Given the description of an element on the screen output the (x, y) to click on. 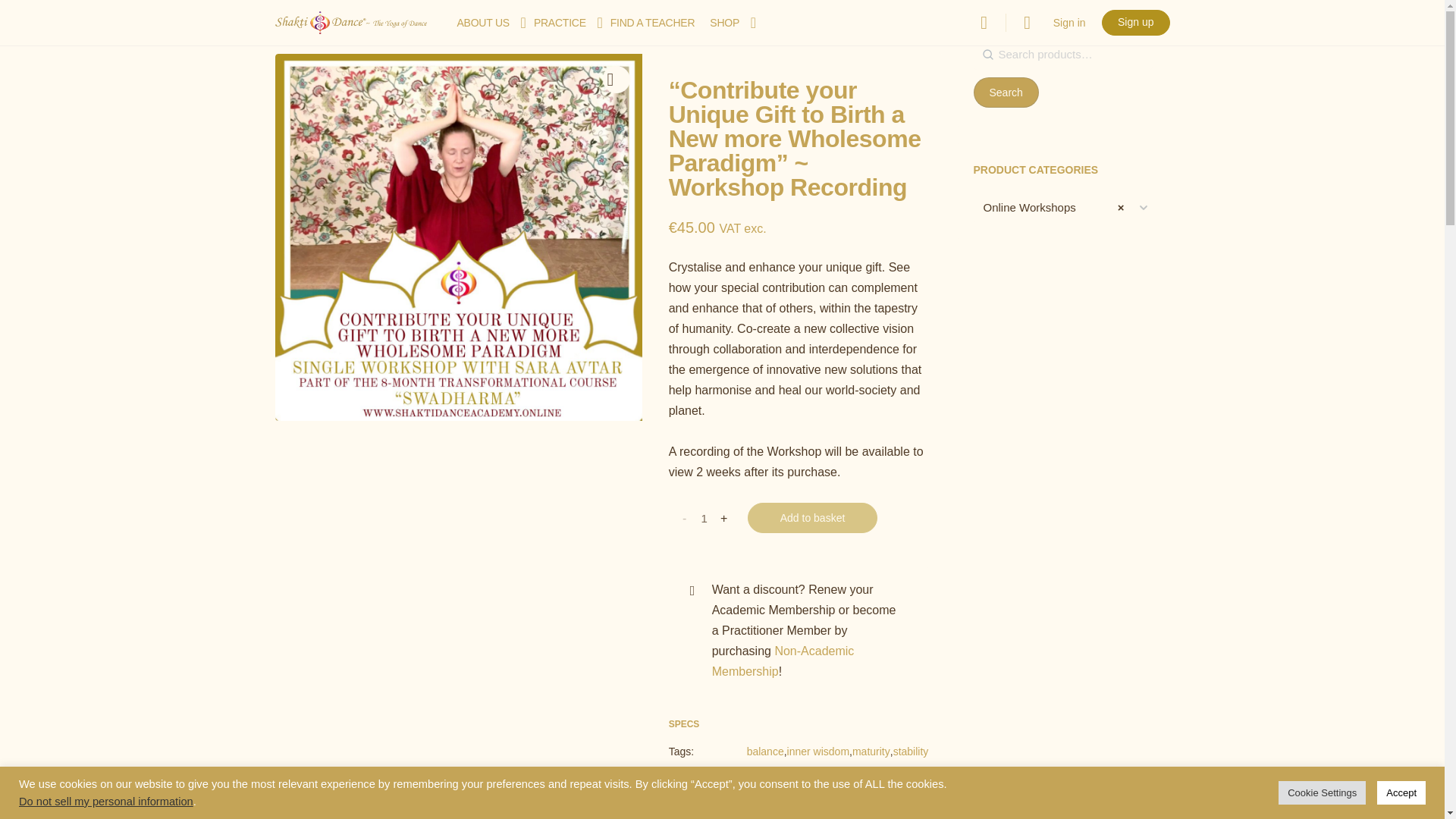
Sign in (1068, 22)
Online Workshops (1049, 207)
PRACTICE (560, 22)
FIND A TEACHER (652, 22)
Sign up (1135, 22)
ABOUT US (482, 22)
